Given the description of an element on the screen output the (x, y) to click on. 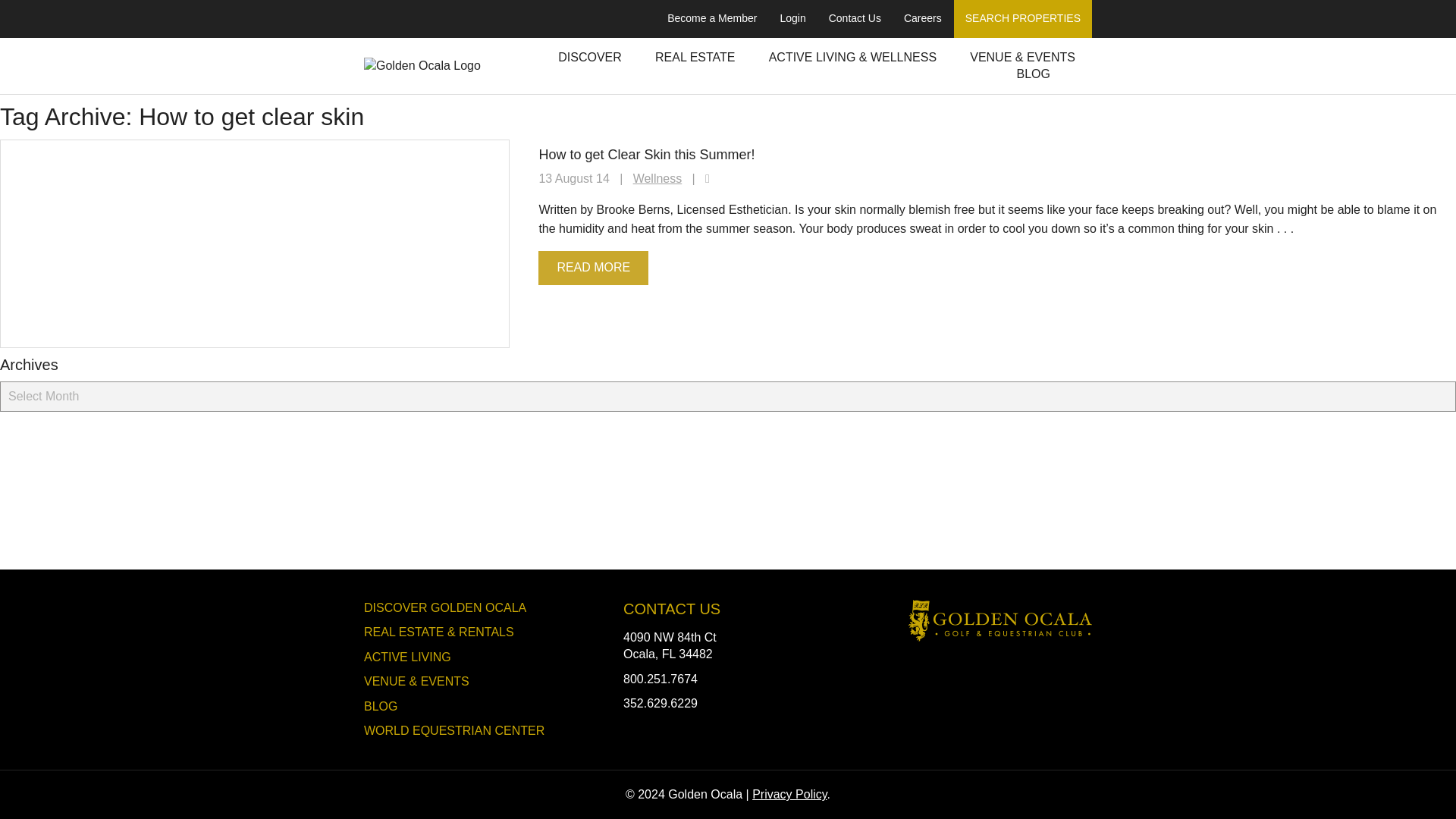
Wellness (657, 178)
DISCOVER (589, 57)
Contact Us (854, 18)
Become a Member (712, 18)
Careers (922, 18)
SEARCH PROPERTIES (1022, 18)
Login (792, 18)
REAL ESTATE (694, 57)
